Given the description of an element on the screen output the (x, y) to click on. 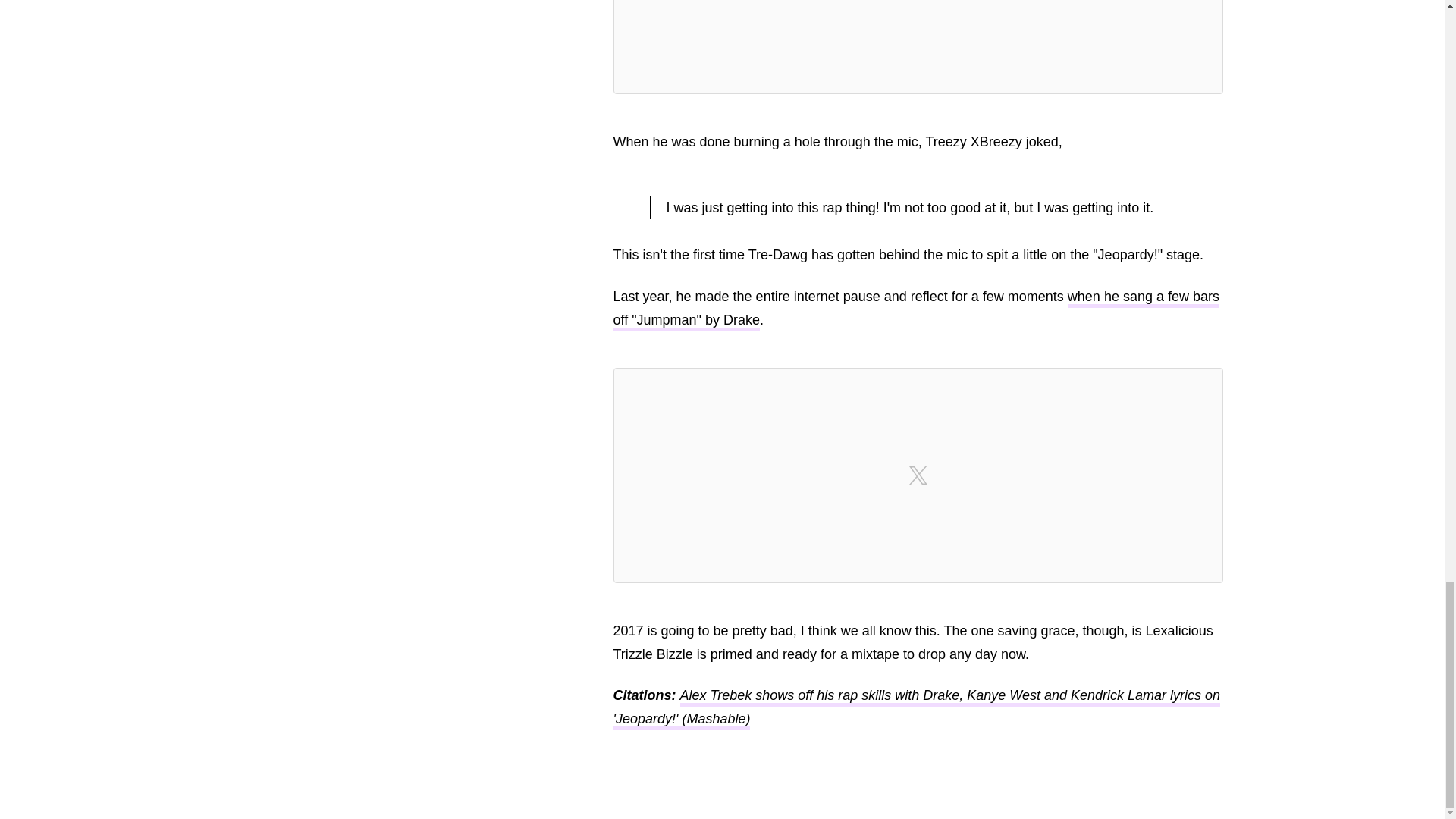
when he sang a few bars off "Jumpman" by Drake (915, 310)
